Given the description of an element on the screen output the (x, y) to click on. 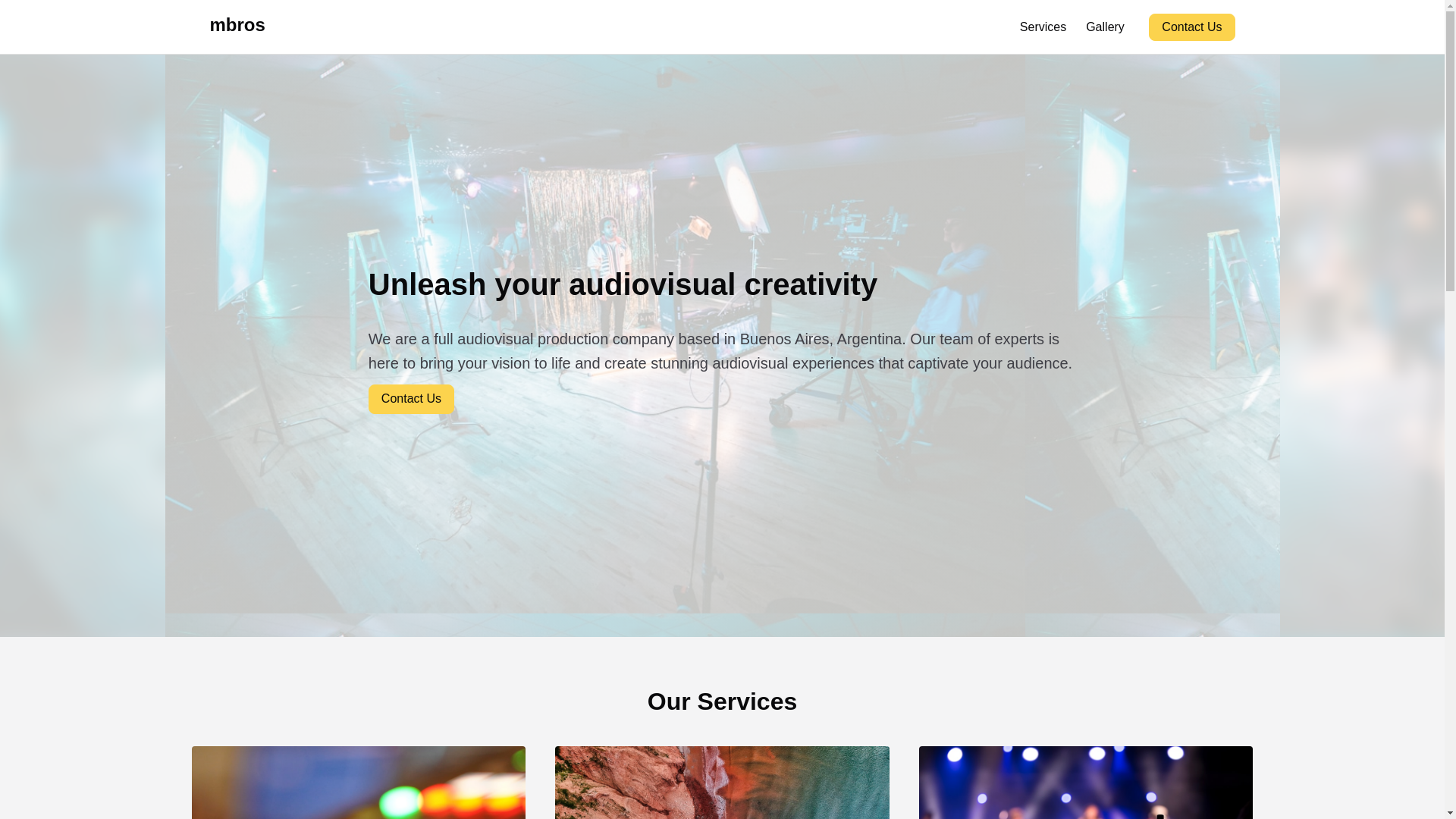
Gallery (1104, 26)
Services (1042, 26)
mbros (236, 27)
Contact Us (1191, 26)
Contact Us (411, 412)
